Given the description of an element on the screen output the (x, y) to click on. 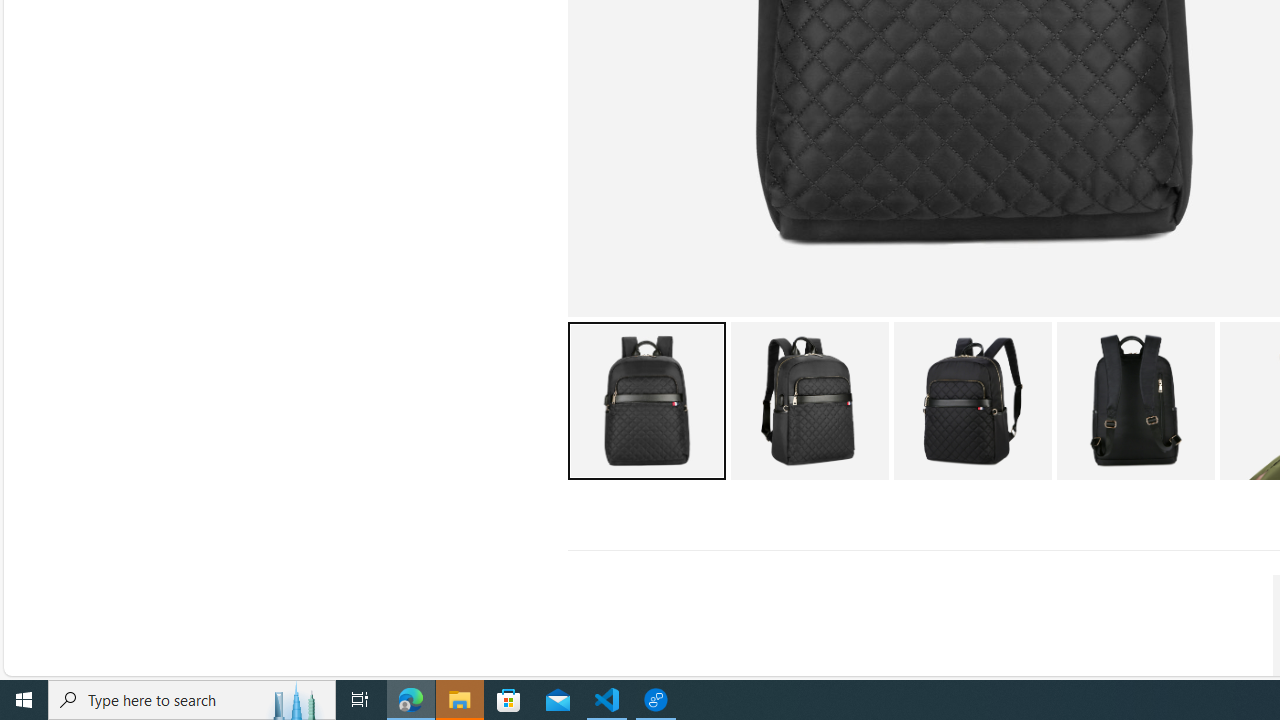
Nordace Ellie - Daily Backpack (1135, 400)
